Given the description of an element on the screen output the (x, y) to click on. 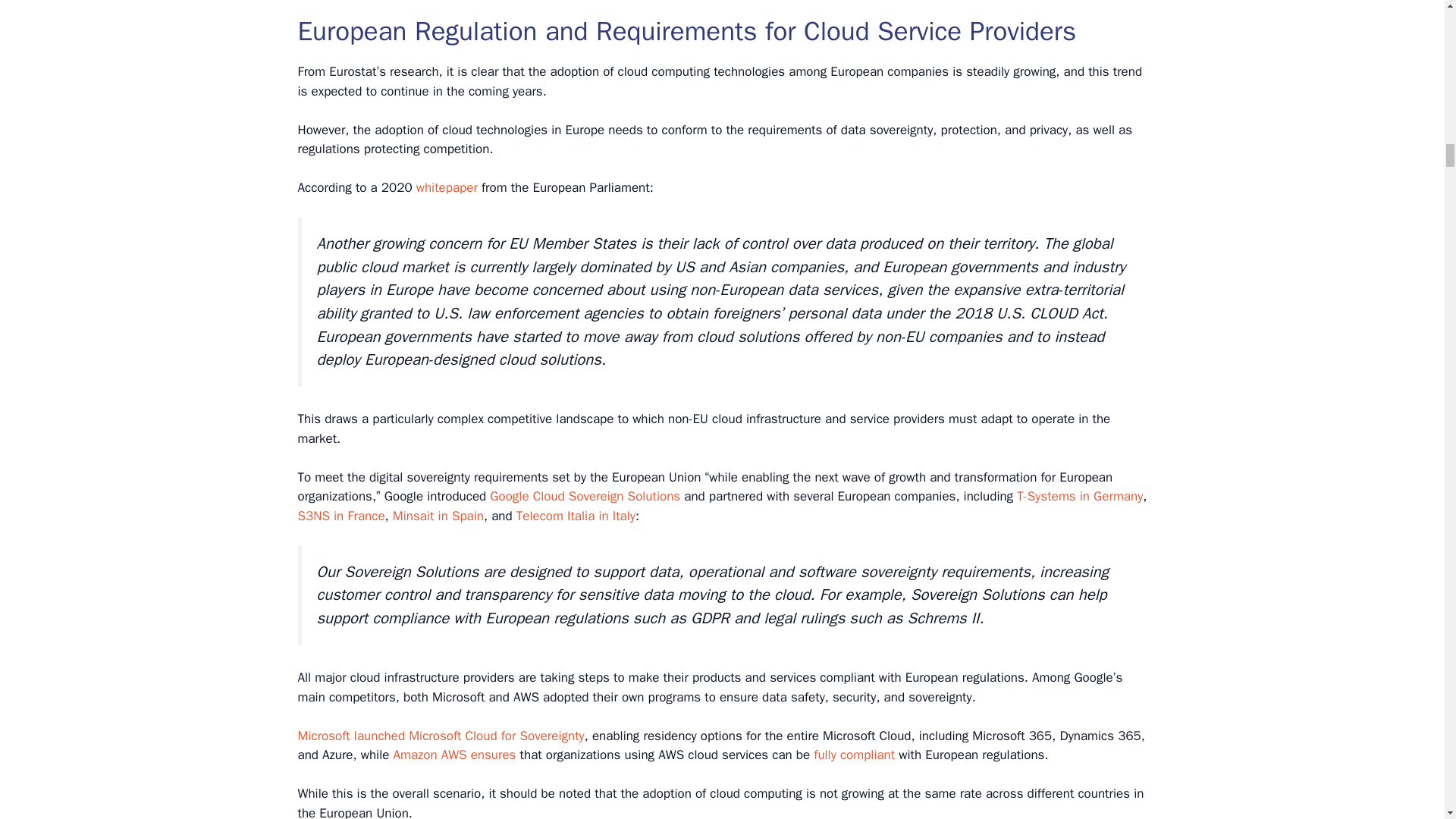
Microsoft launched (350, 735)
S3NS in France (340, 515)
Telecom Italia in Italy (575, 515)
whitepaper (446, 187)
Minsait in Spain (438, 515)
T-Systems in Germany (1079, 496)
Google Cloud Sovereign Solutions (584, 496)
